Given the description of an element on the screen output the (x, y) to click on. 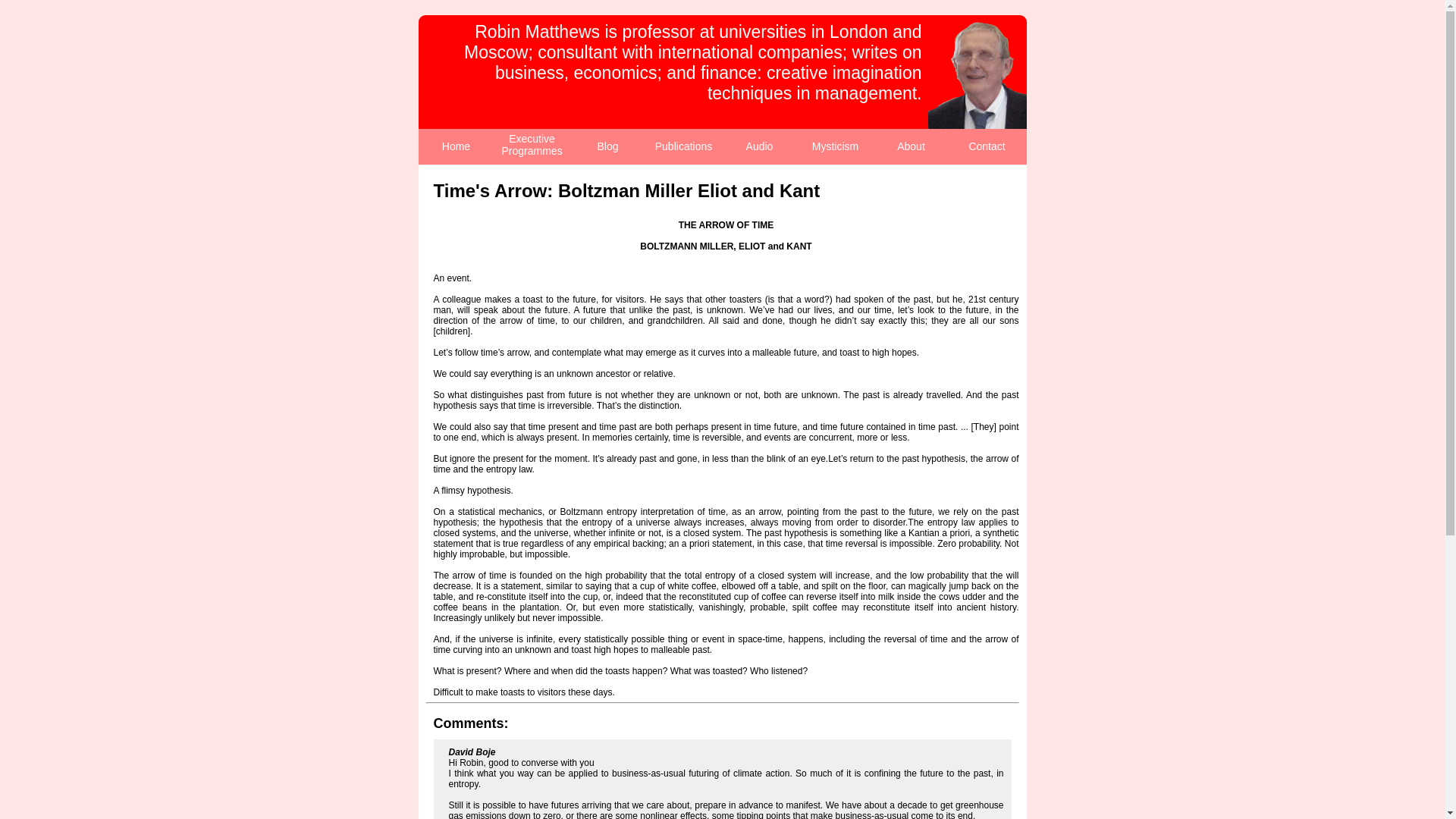
Audio (759, 146)
Contact (986, 146)
Home (456, 146)
Executive Programmes (532, 144)
Blog (606, 146)
Mysticism (835, 146)
Publications (684, 146)
About (910, 146)
